Given the description of an element on the screen output the (x, y) to click on. 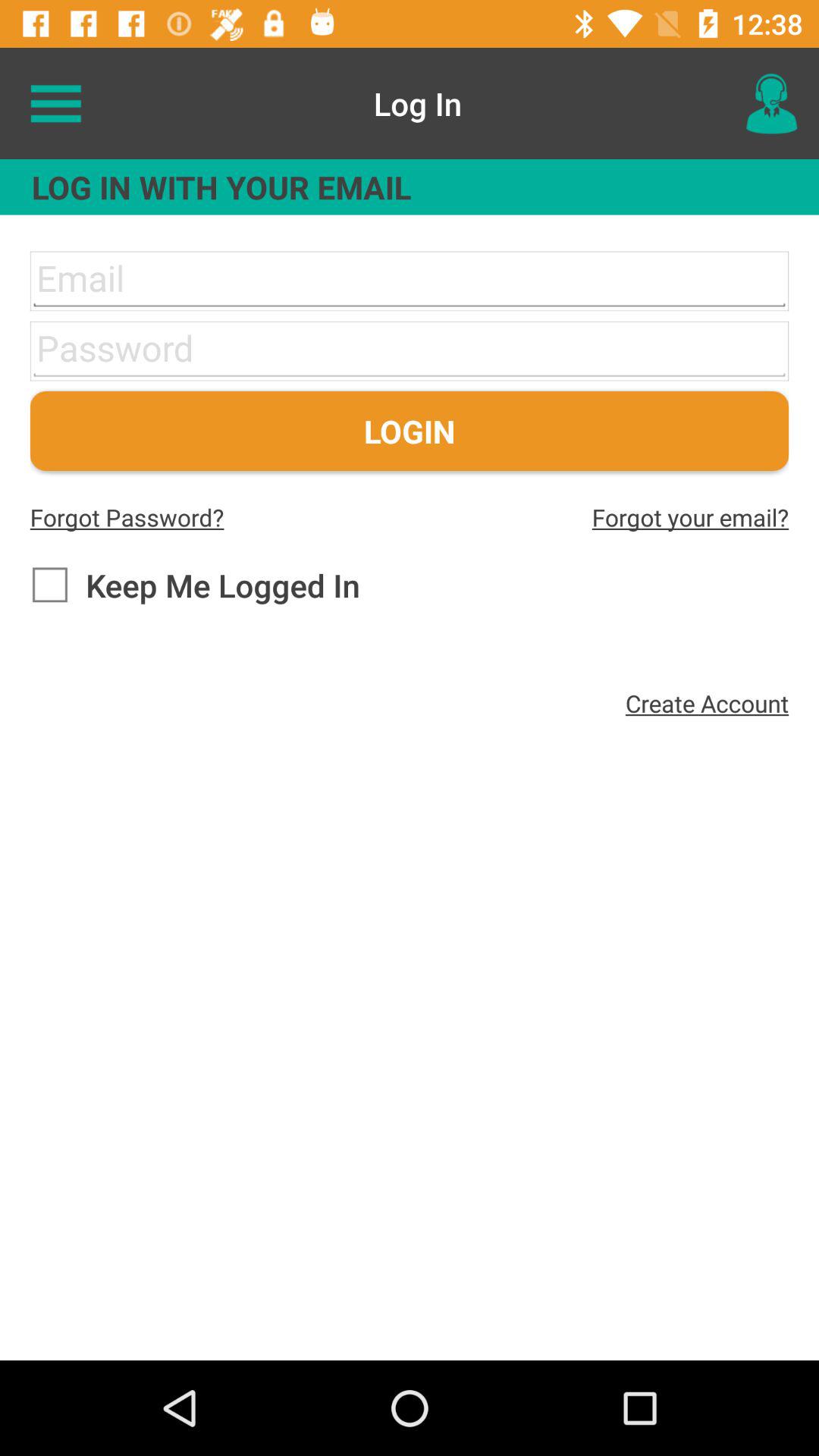
turn on item next to the log in icon (771, 103)
